Given the description of an element on the screen output the (x, y) to click on. 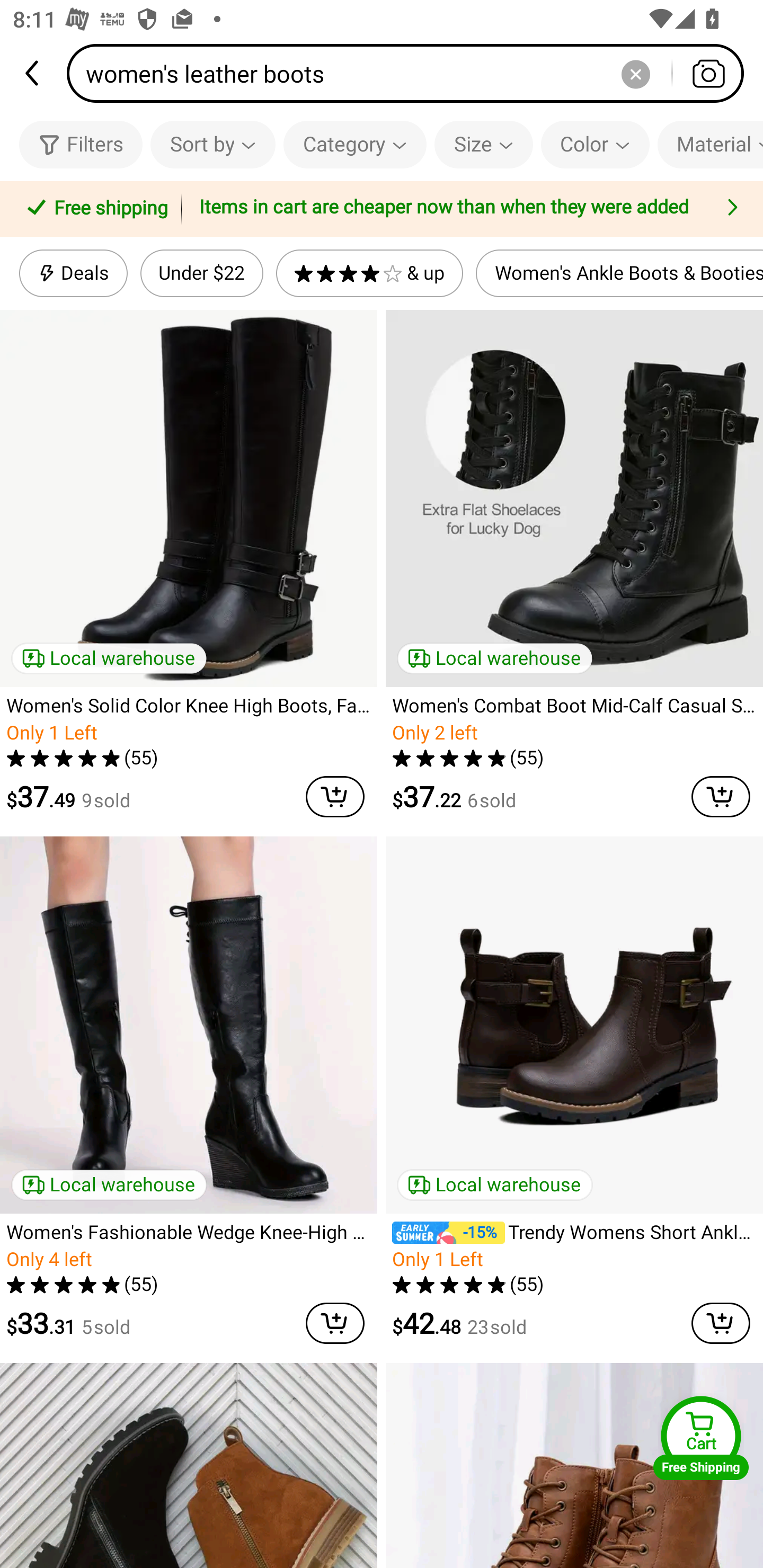
back (33, 72)
women's leather boots (411, 73)
Delete search history (635, 73)
Search by photo (708, 73)
Filters (80, 143)
Sort by (212, 143)
Category (354, 143)
Size (483, 143)
Color (594, 143)
Material (710, 143)
 Free shipping (93, 208)
Deals (73, 273)
Under $22 (201, 273)
& up (369, 273)
Women's Ankle Boots & Booties (619, 273)
Cart Free Shipping Cart (701, 1437)
